Given the description of an element on the screen output the (x, y) to click on. 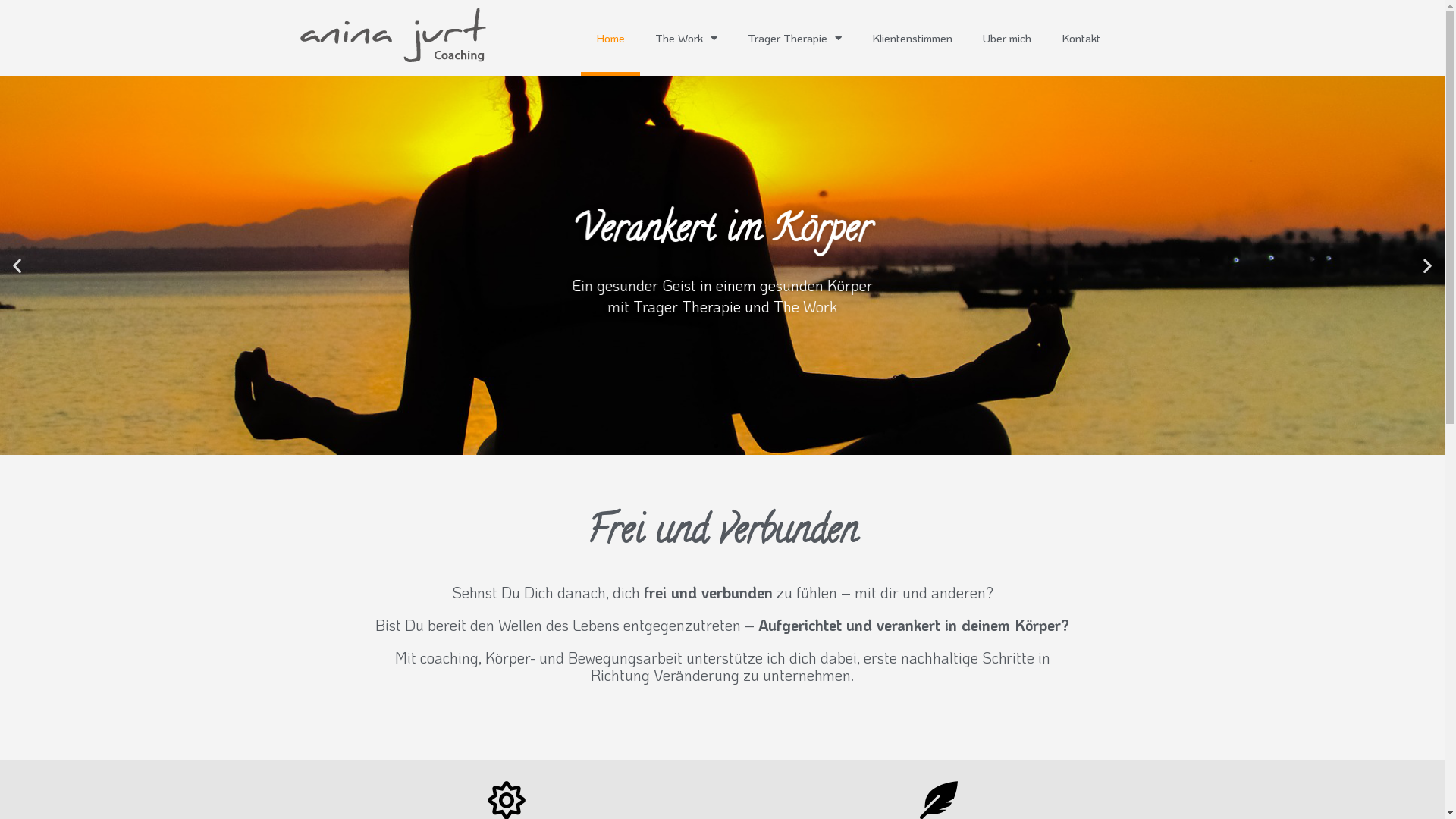
Kontakt Element type: text (1080, 37)
Klientenstimmen Element type: text (911, 37)
Trager Therapie Element type: text (794, 37)
Home Element type: text (610, 37)
The Work Element type: text (686, 37)
